Given the description of an element on the screen output the (x, y) to click on. 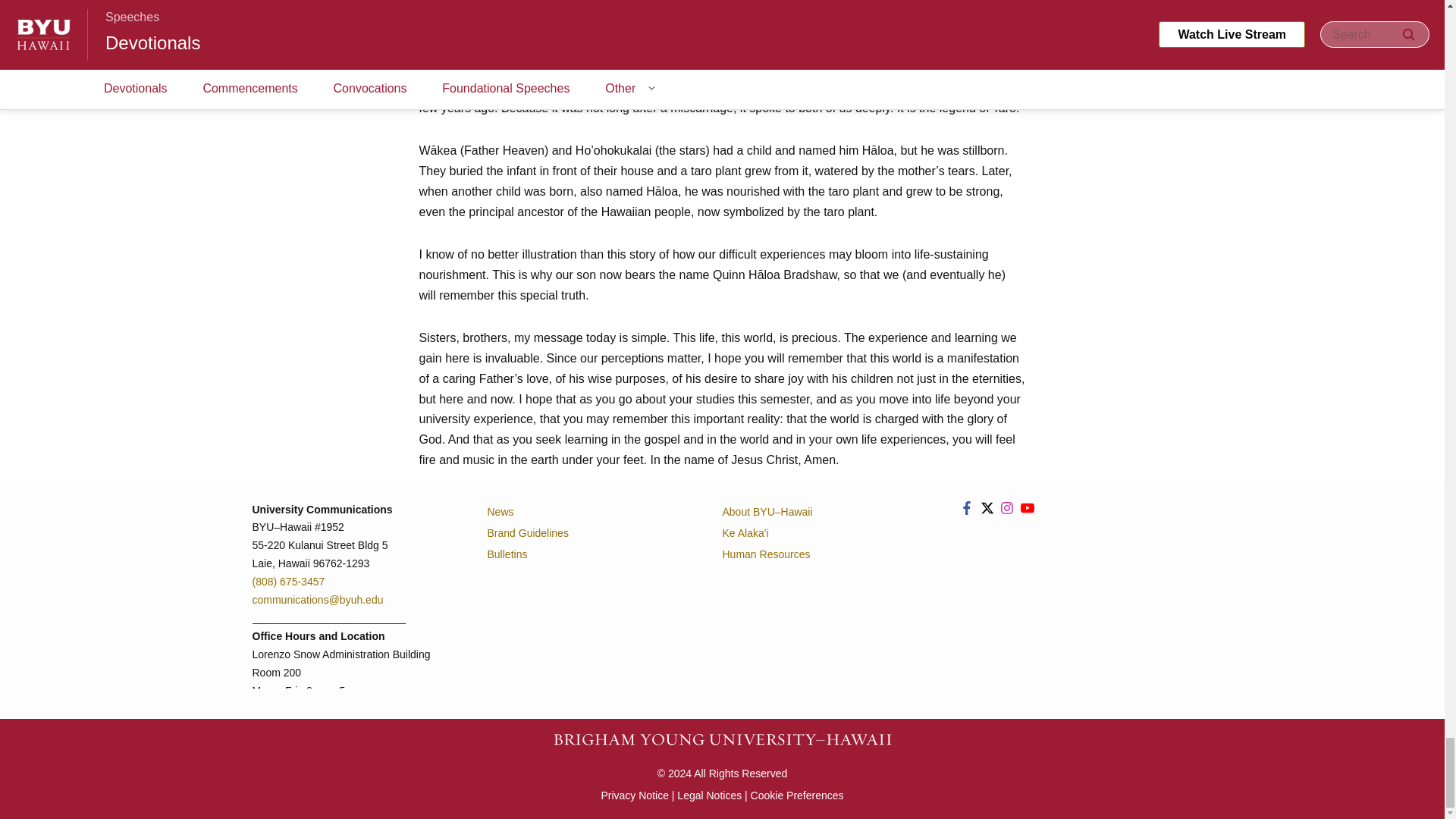
Link to youtube (1026, 507)
Legal Notices (709, 795)
Human Resources (824, 554)
Cookie Preferences (797, 795)
Privacy Notice (633, 795)
News (588, 510)
Ke Alaka'I (824, 532)
Brand Guidelines (588, 532)
Link to instagram (1006, 507)
Bulletins (588, 554)
